Given the description of an element on the screen output the (x, y) to click on. 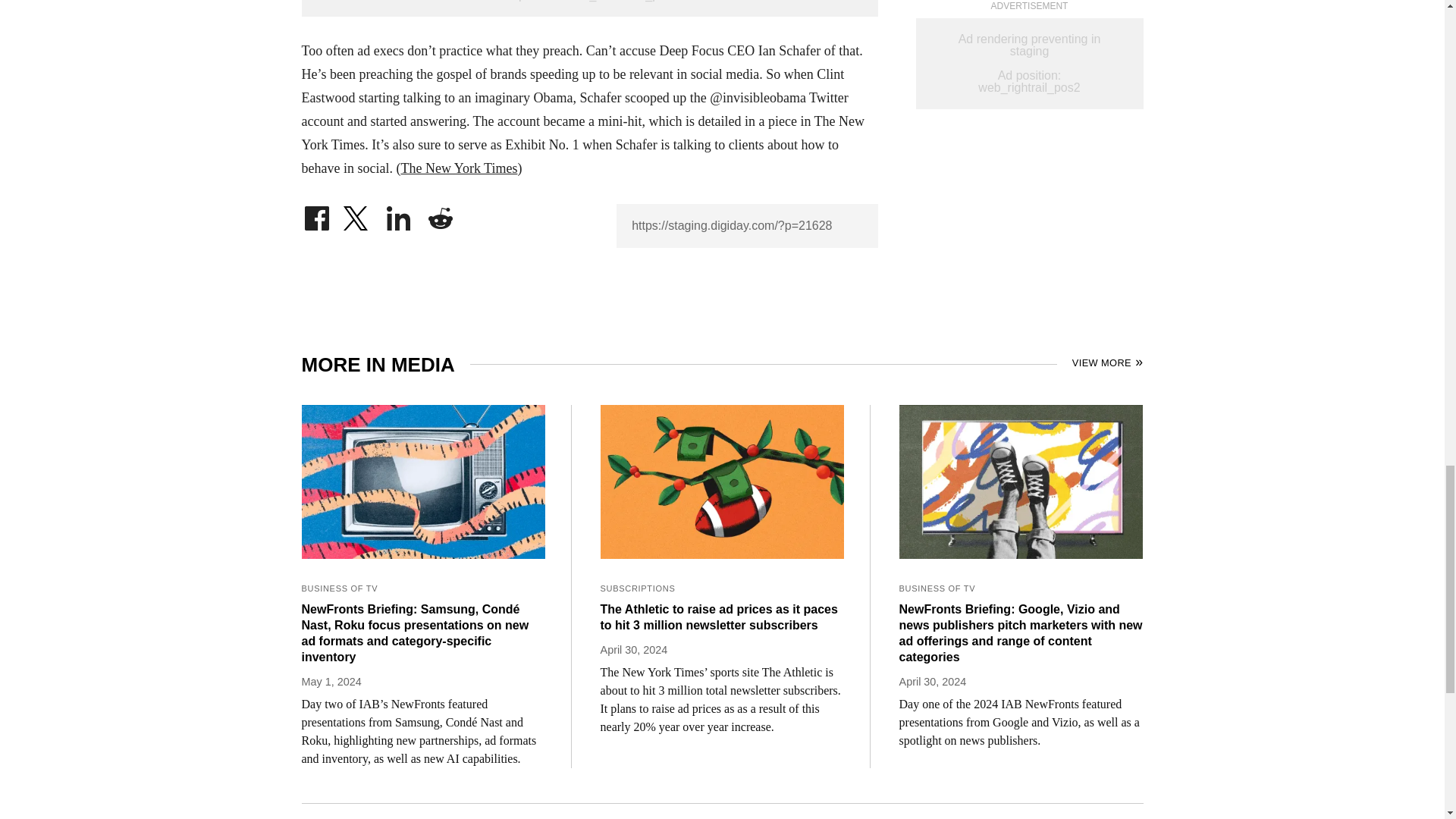
Share on Twitter (357, 214)
Share on LinkedIn (398, 214)
Share on Reddit (440, 214)
Share on Facebook (316, 214)
